Given the description of an element on the screen output the (x, y) to click on. 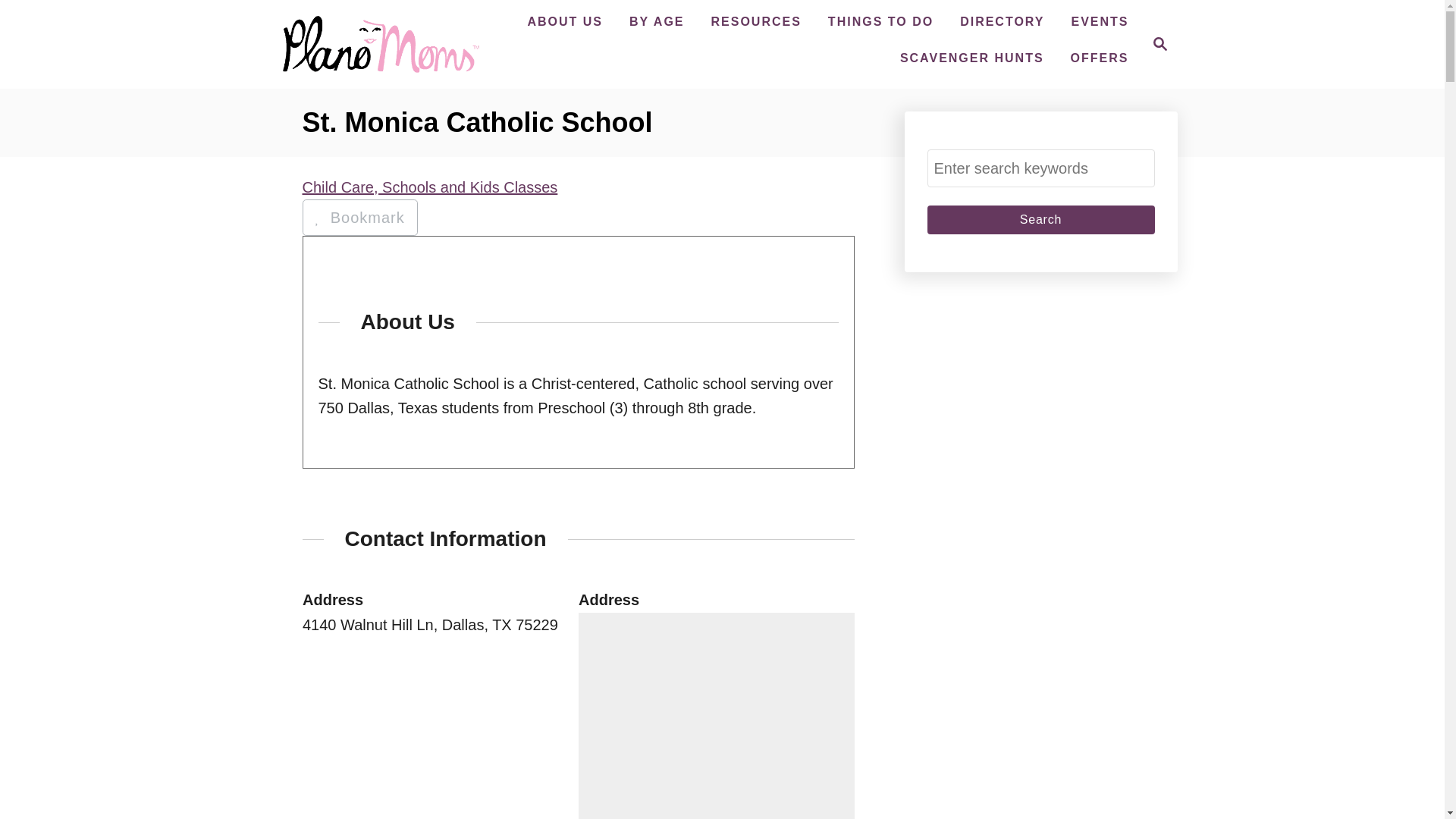
Child Care, Schools and Kids Classes (429, 187)
OFFERS (1099, 58)
SCAVENGER HUNTS (971, 58)
Magnifying Glass (1160, 44)
ABOUT US (1155, 43)
Search (564, 21)
BY AGE (1040, 219)
THINGS TO DO (656, 21)
Search (880, 21)
